Given the description of an element on the screen output the (x, y) to click on. 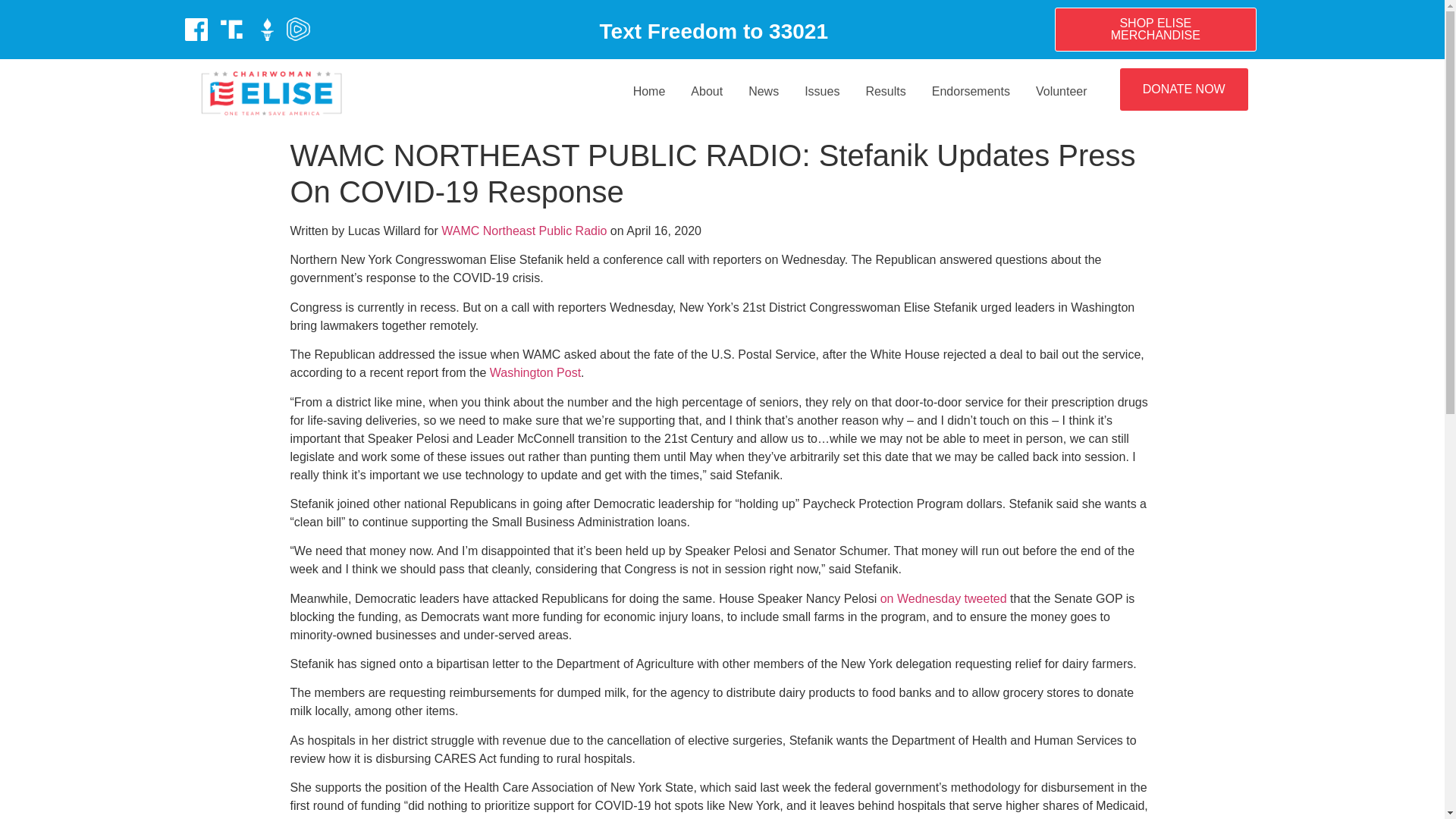
Endorsements (970, 91)
About (706, 91)
SHOP ELISE MERCHANDISE (1155, 29)
Home (649, 91)
DONATE NOW (1183, 88)
WAMC Northeast Public Radio (524, 230)
News (763, 91)
rumble-4560335-3789609 white (298, 28)
Washington Post (534, 372)
Volunteer (1061, 91)
